Given the description of an element on the screen output the (x, y) to click on. 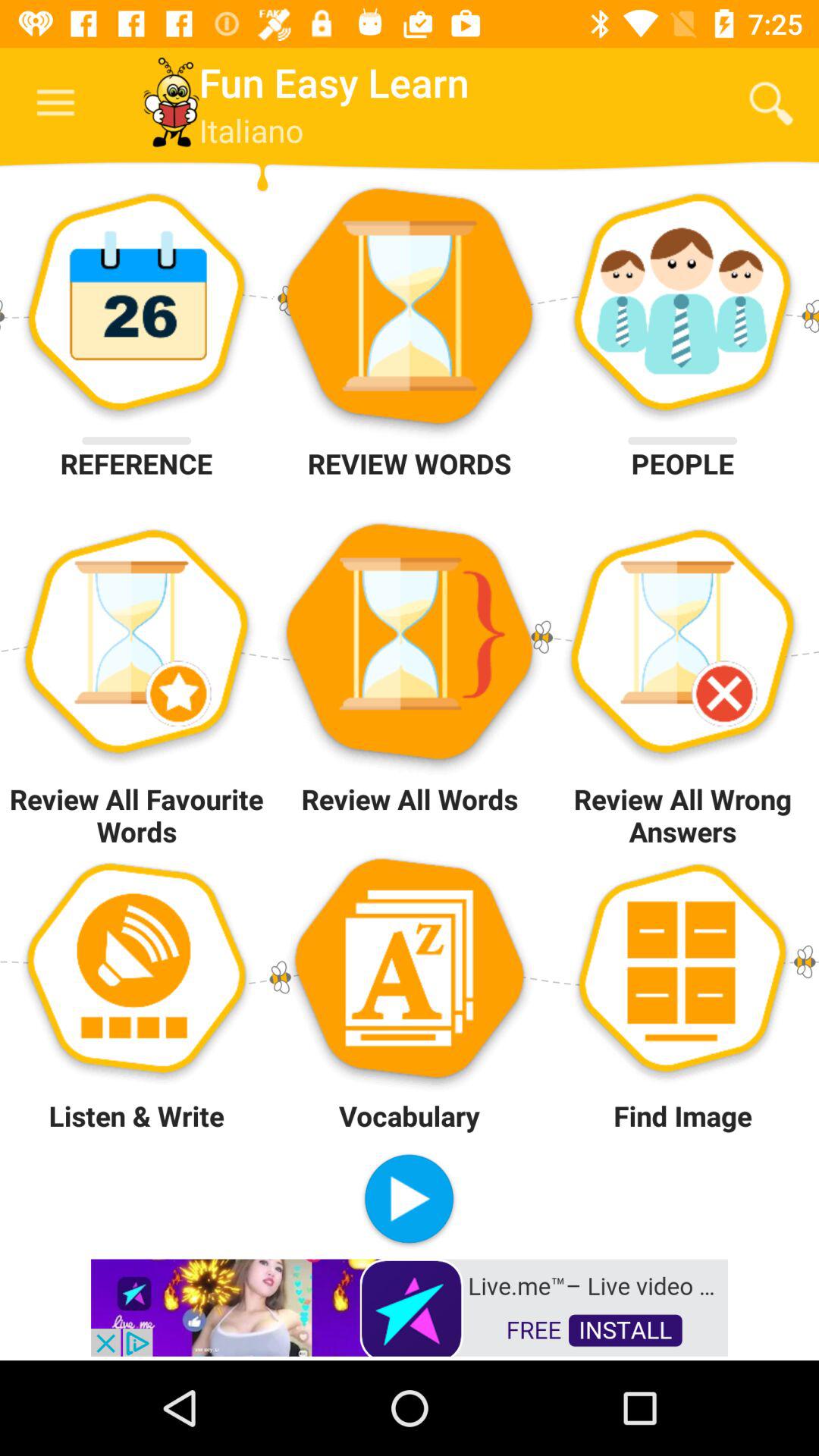
advertisement link to download (409, 1306)
